Given the description of an element on the screen output the (x, y) to click on. 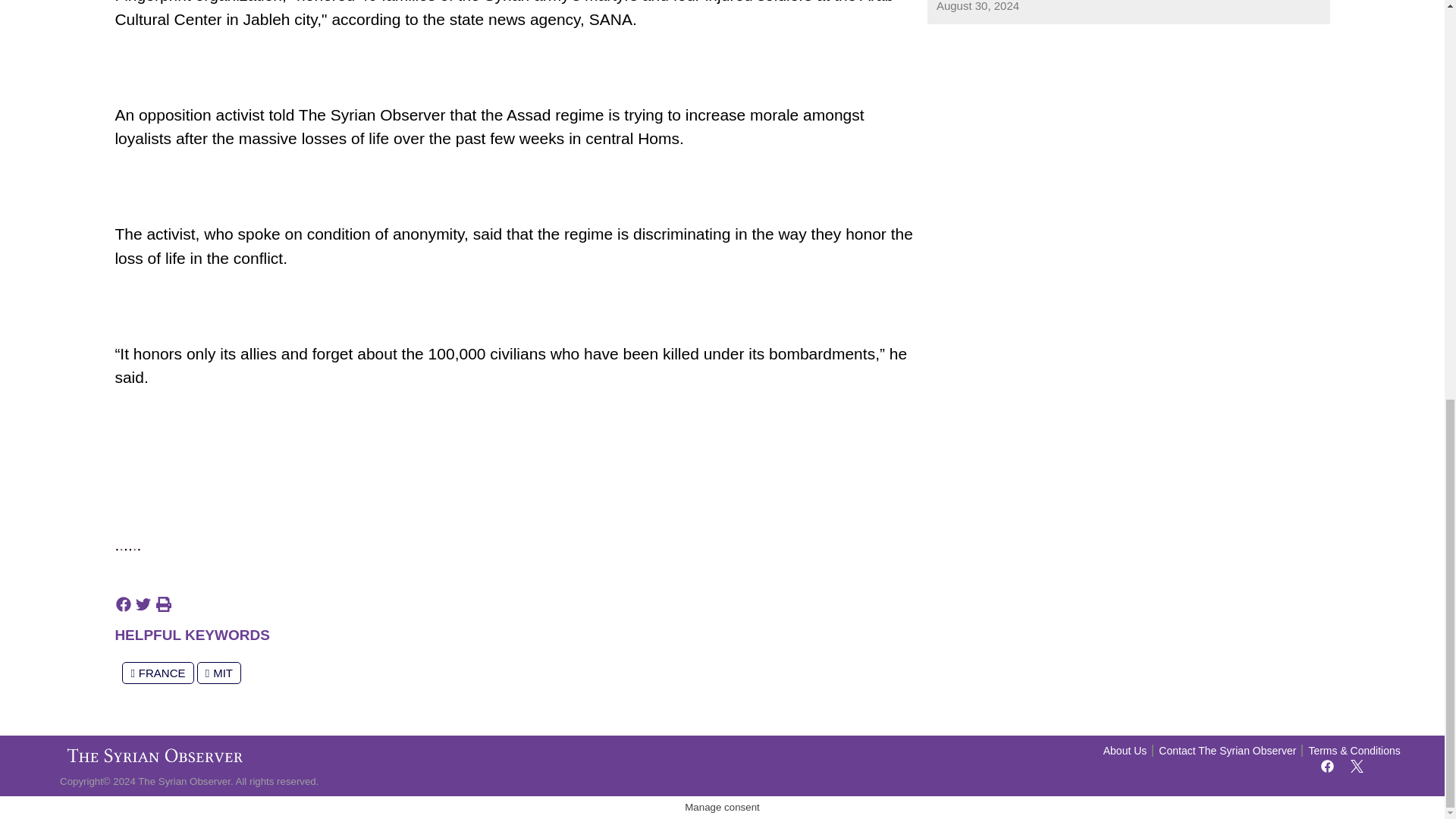
Contact The Syrian Observer (1227, 750)
About Us (1125, 750)
MIT (218, 672)
August 30, 2024 (977, 7)
FRANCE (157, 672)
